Given the description of an element on the screen output the (x, y) to click on. 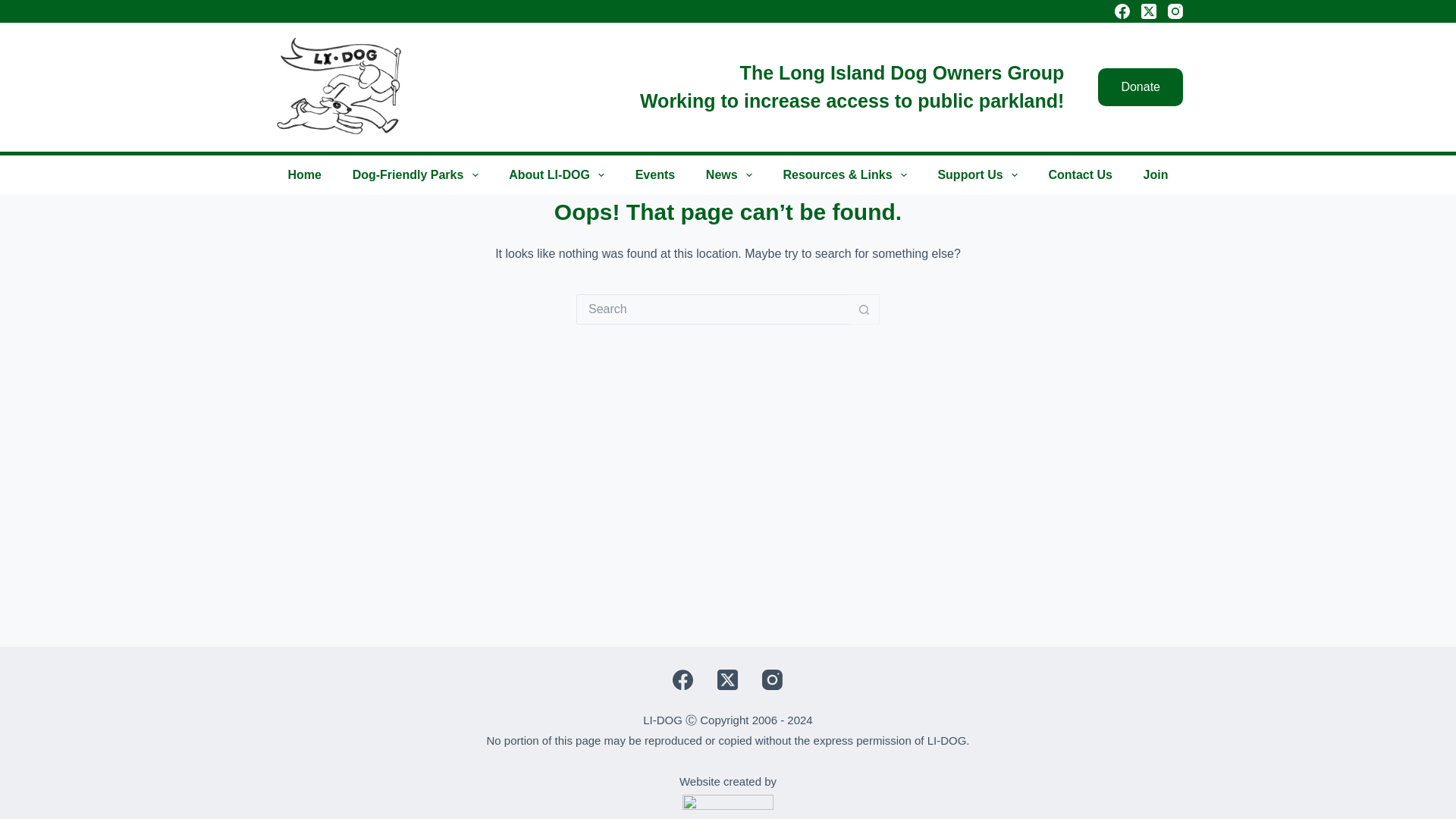
Skip to content (15, 7)
Dog-Friendly Parks (414, 174)
Donate (1139, 86)
Home (305, 174)
Search for... (712, 309)
